Given the description of an element on the screen output the (x, y) to click on. 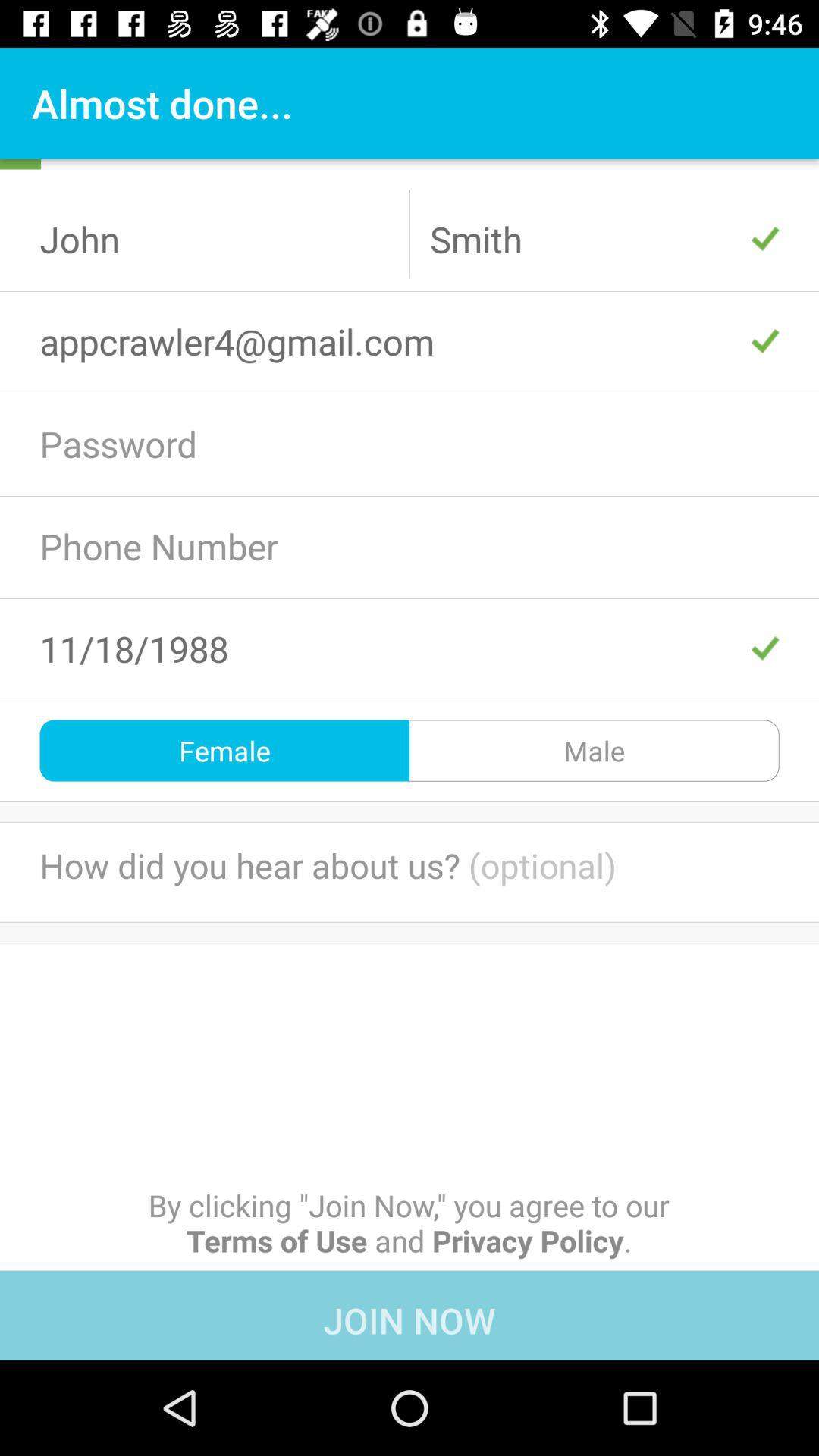
turn off the icon next to john item (604, 239)
